Given the description of an element on the screen output the (x, y) to click on. 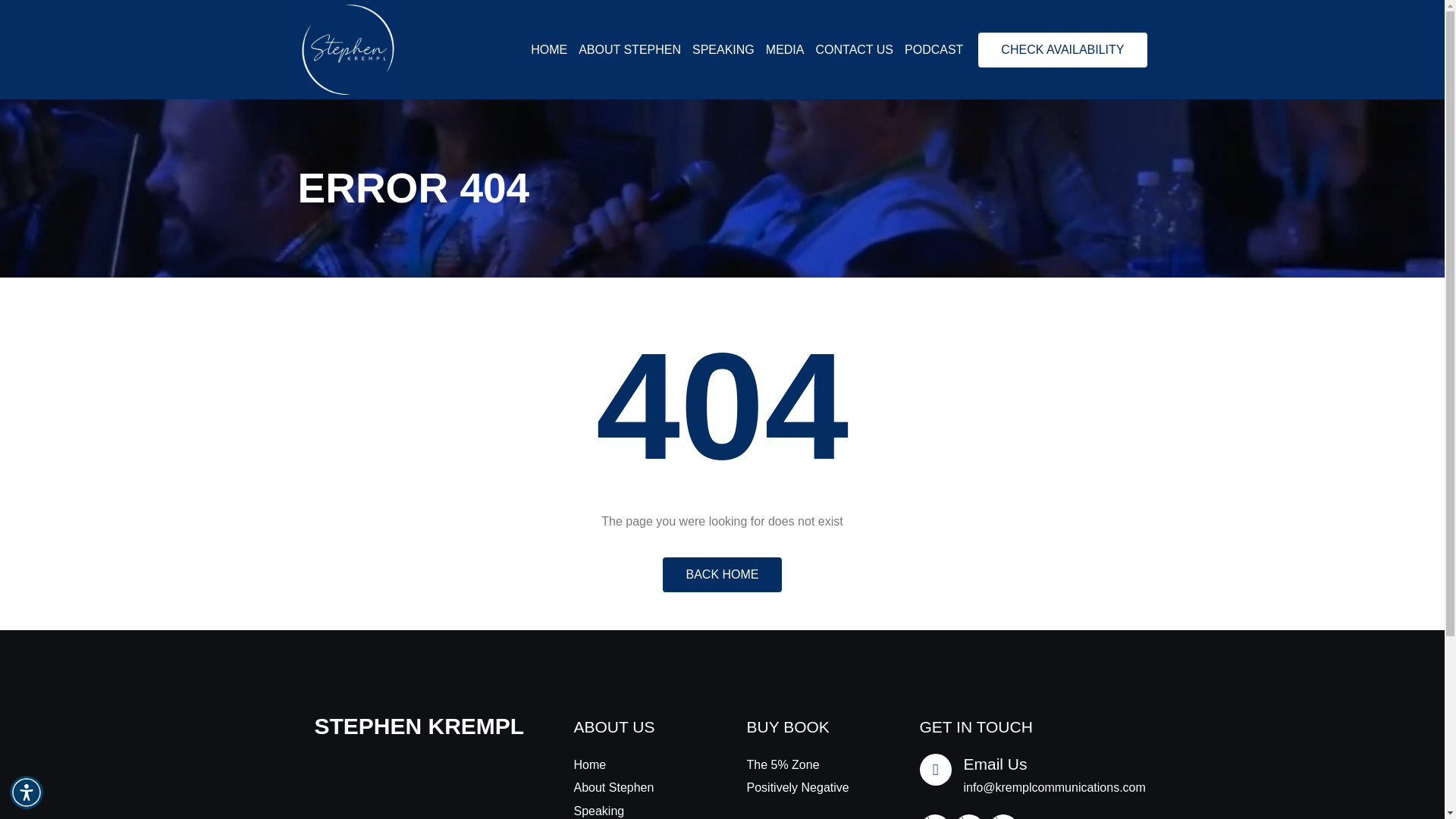
CHECK AVAILABILITY (1062, 49)
CONTACT US (854, 49)
Accessibility Menu (26, 792)
PODCAST (933, 49)
Home (635, 764)
MEDIA (785, 49)
ABOUT STEPHEN (629, 49)
HOME (549, 49)
BACK HOME (721, 574)
Speaking (635, 809)
Positively Negative (807, 787)
SPEAKING (723, 49)
About Stephen (635, 787)
